Given the description of an element on the screen output the (x, y) to click on. 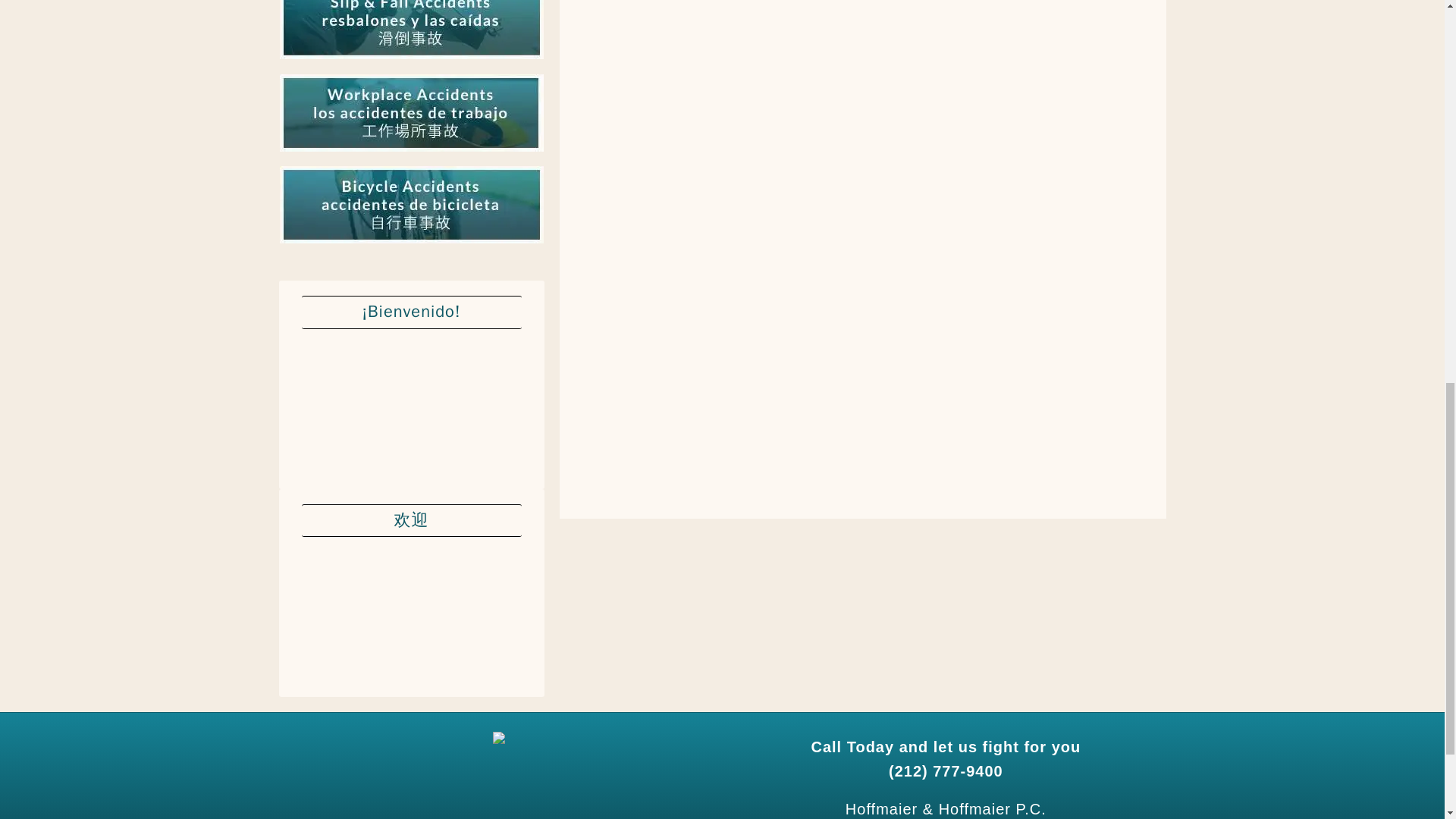
Workplace Accidents (411, 151)
Bicycle Accidents (411, 243)
